Given the description of an element on the screen output the (x, y) to click on. 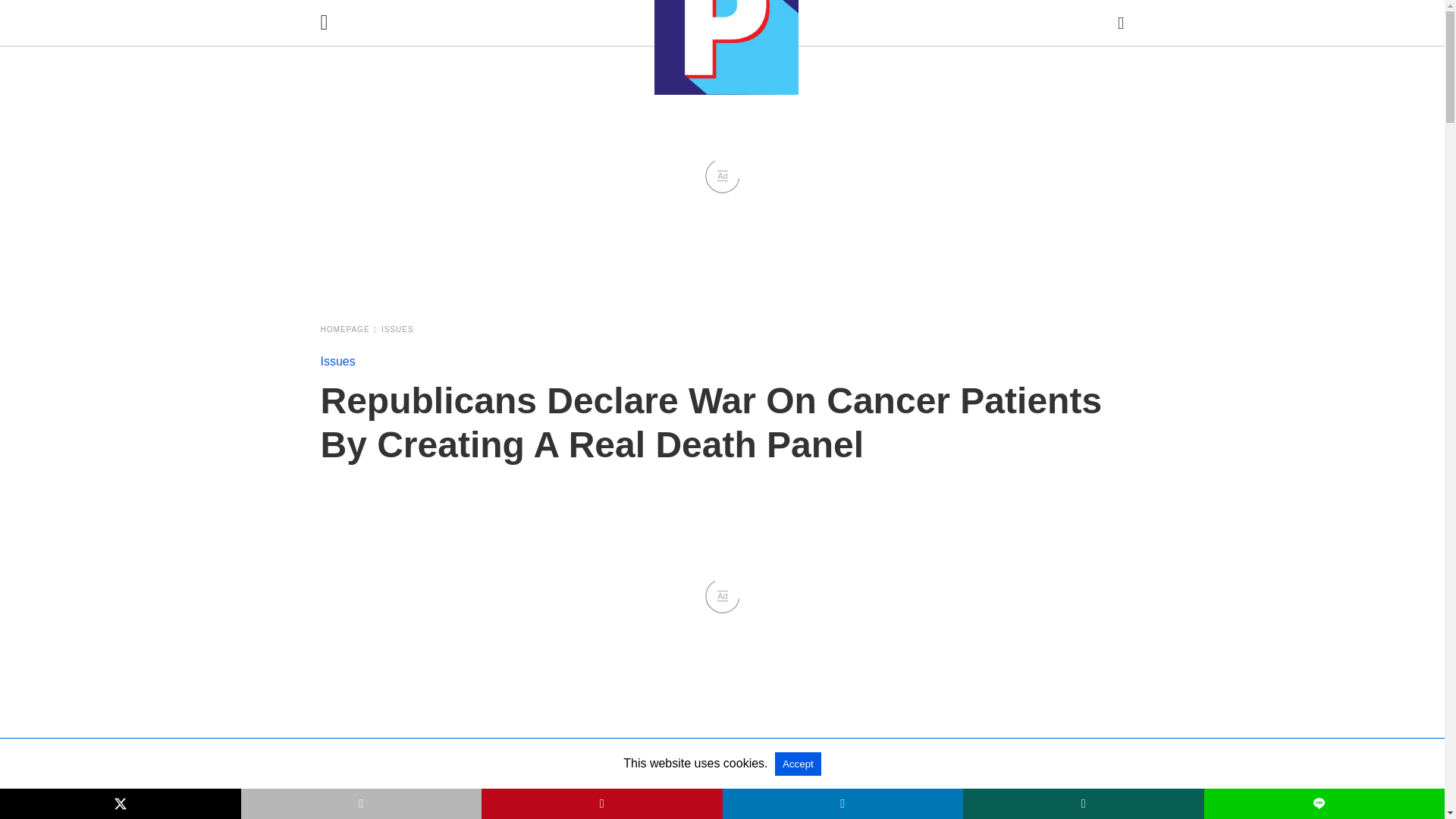
Issues (397, 329)
Issues (337, 360)
ISSUES (397, 329)
Issues (337, 360)
search (1121, 22)
PoliticusUSA (725, 47)
HOMEPAGE (348, 329)
Homepage (348, 329)
